Given the description of an element on the screen output the (x, y) to click on. 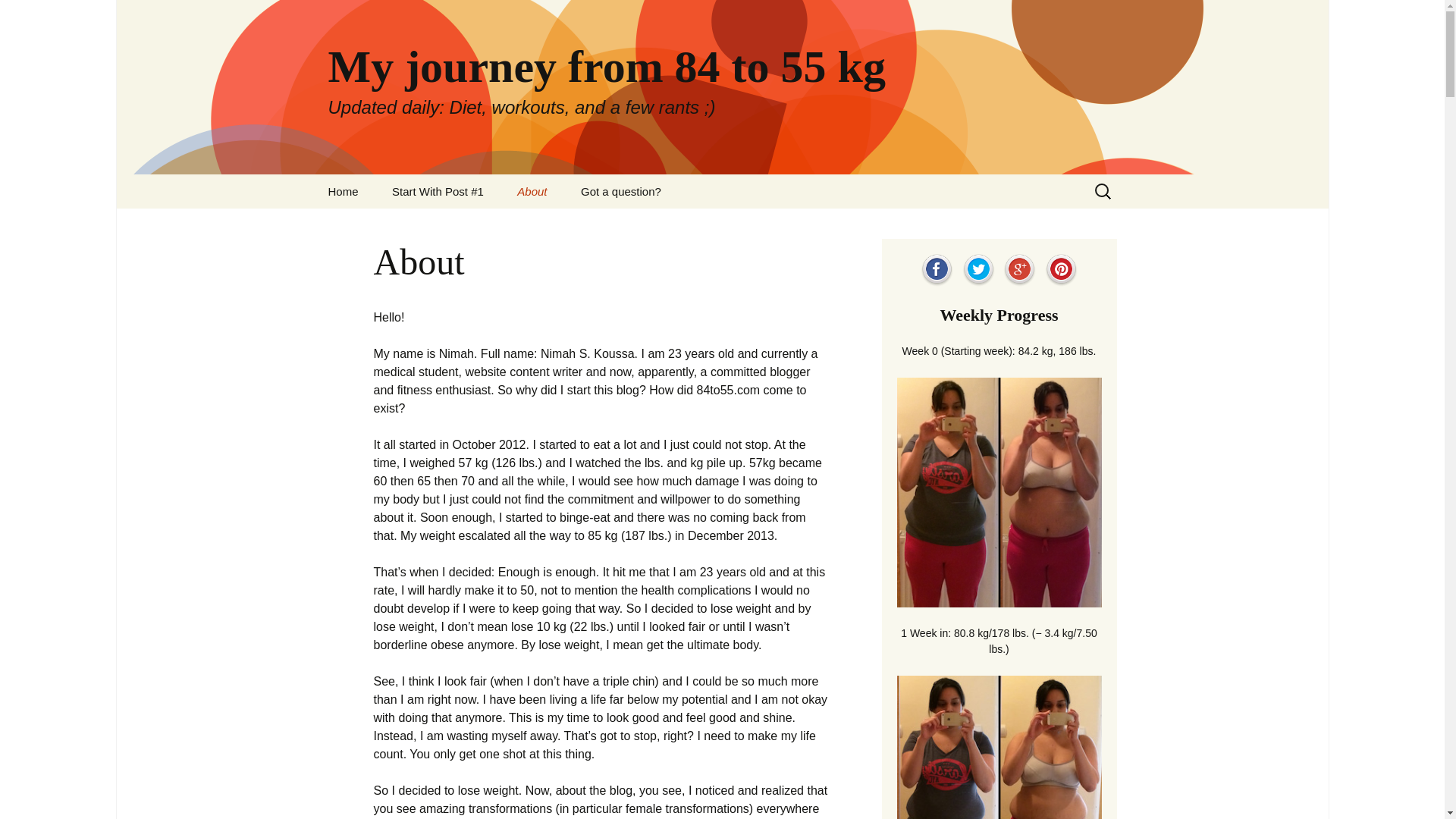
Got a question? (621, 191)
Search for: (1103, 191)
Home (342, 191)
About (532, 191)
Search (18, 15)
